Given the description of an element on the screen output the (x, y) to click on. 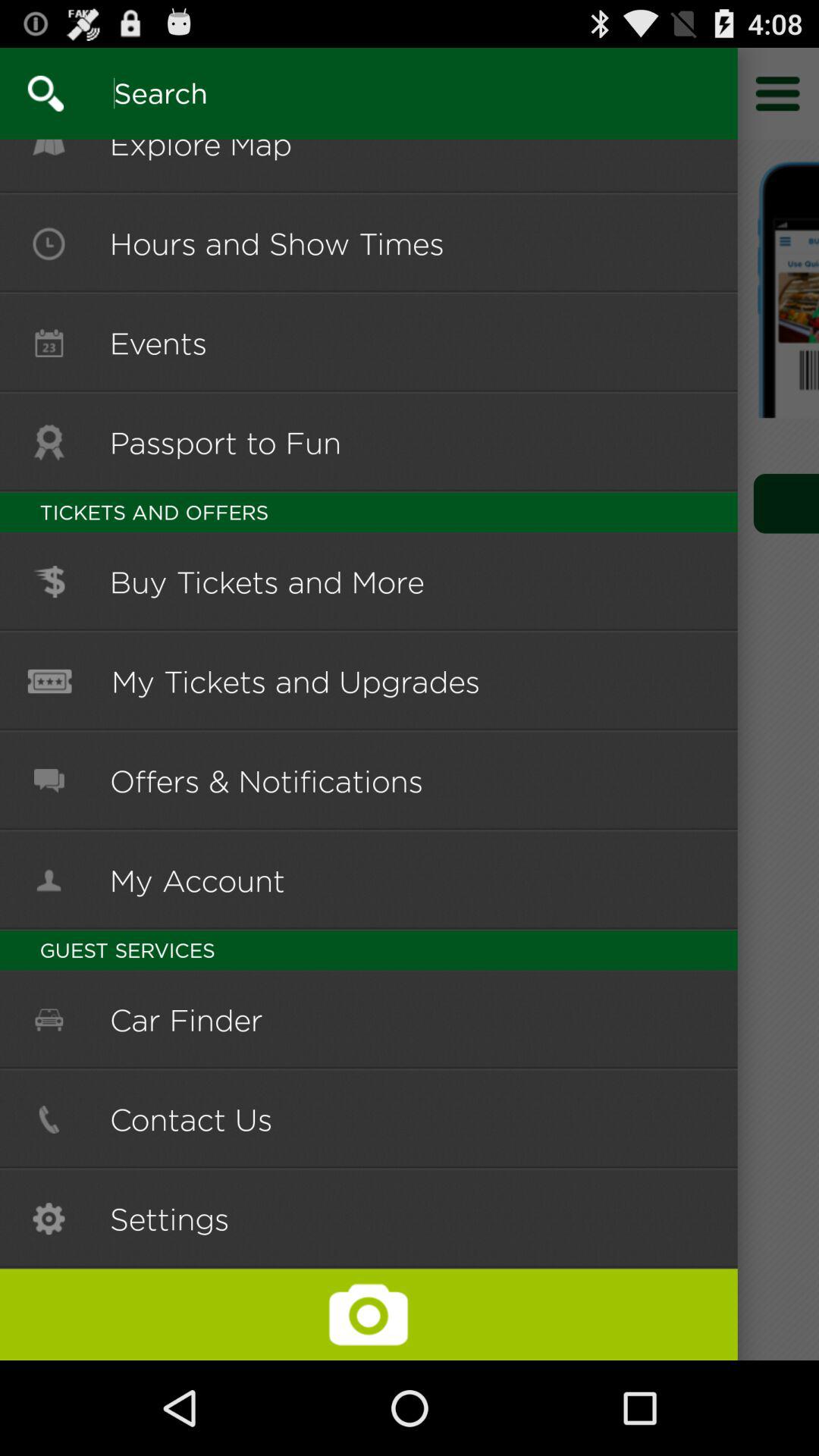
search (31, 93)
